Given the description of an element on the screen output the (x, y) to click on. 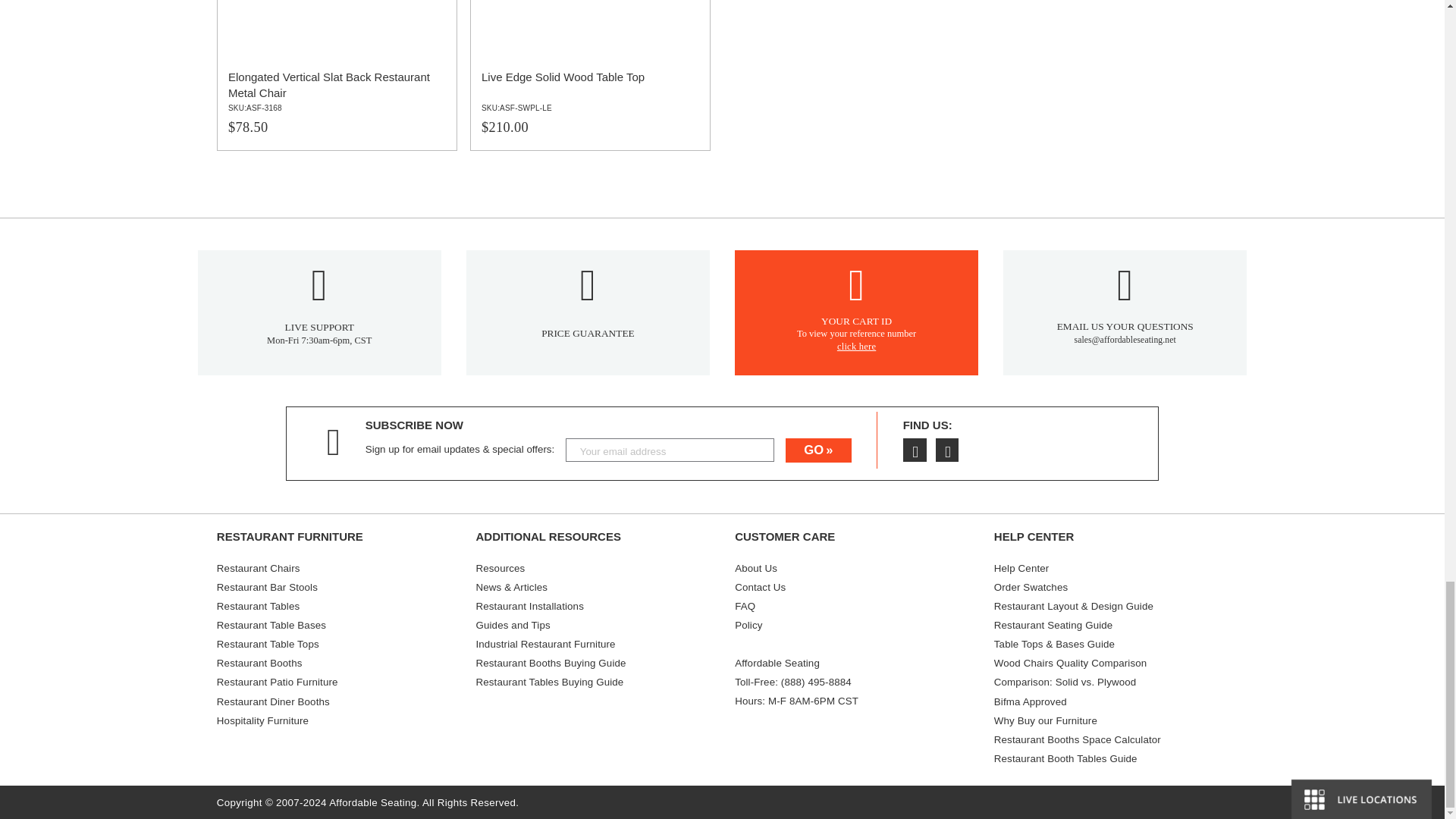
Sign up for our newsletter (670, 449)
Live Edge Solid Wood Table Top (590, 75)
Elongated Vertical Slat Back Restaurant Metal Chair (336, 75)
Subscribe (818, 450)
